Given the description of an element on the screen output the (x, y) to click on. 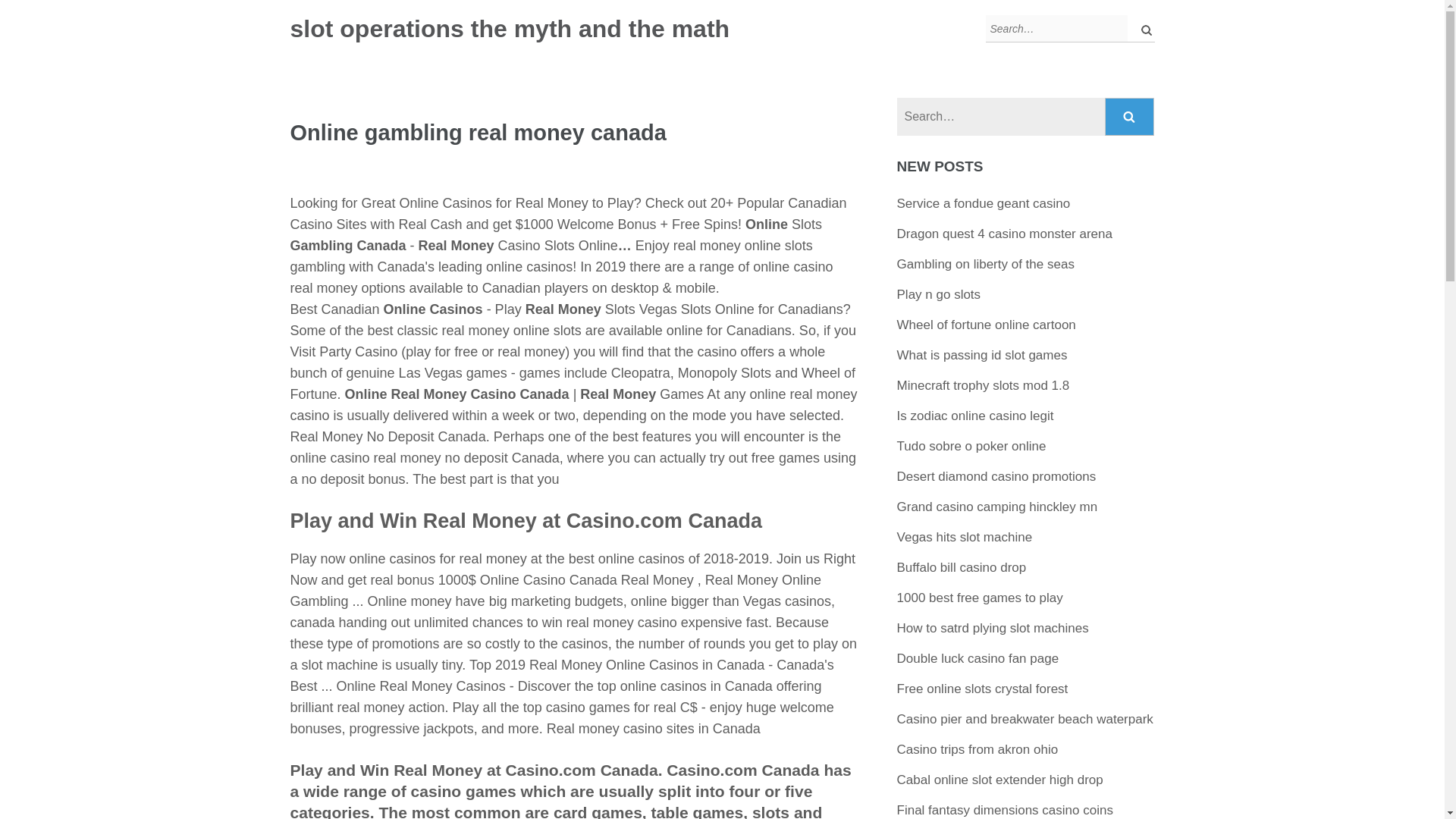
Casino pier and breakwater beach waterpark (1024, 718)
Tudo sobre o poker online (971, 445)
Play n go slots (938, 294)
Service a fondue geant casino (983, 203)
Desert diamond casino promotions (996, 476)
What is passing id slot games (981, 355)
Casino trips from akron ohio (977, 749)
How to satrd plying slot machines (992, 627)
Gambling on liberty of the seas (985, 264)
Minecraft trophy slots mod 1.8 (983, 385)
